Given the description of an element on the screen output the (x, y) to click on. 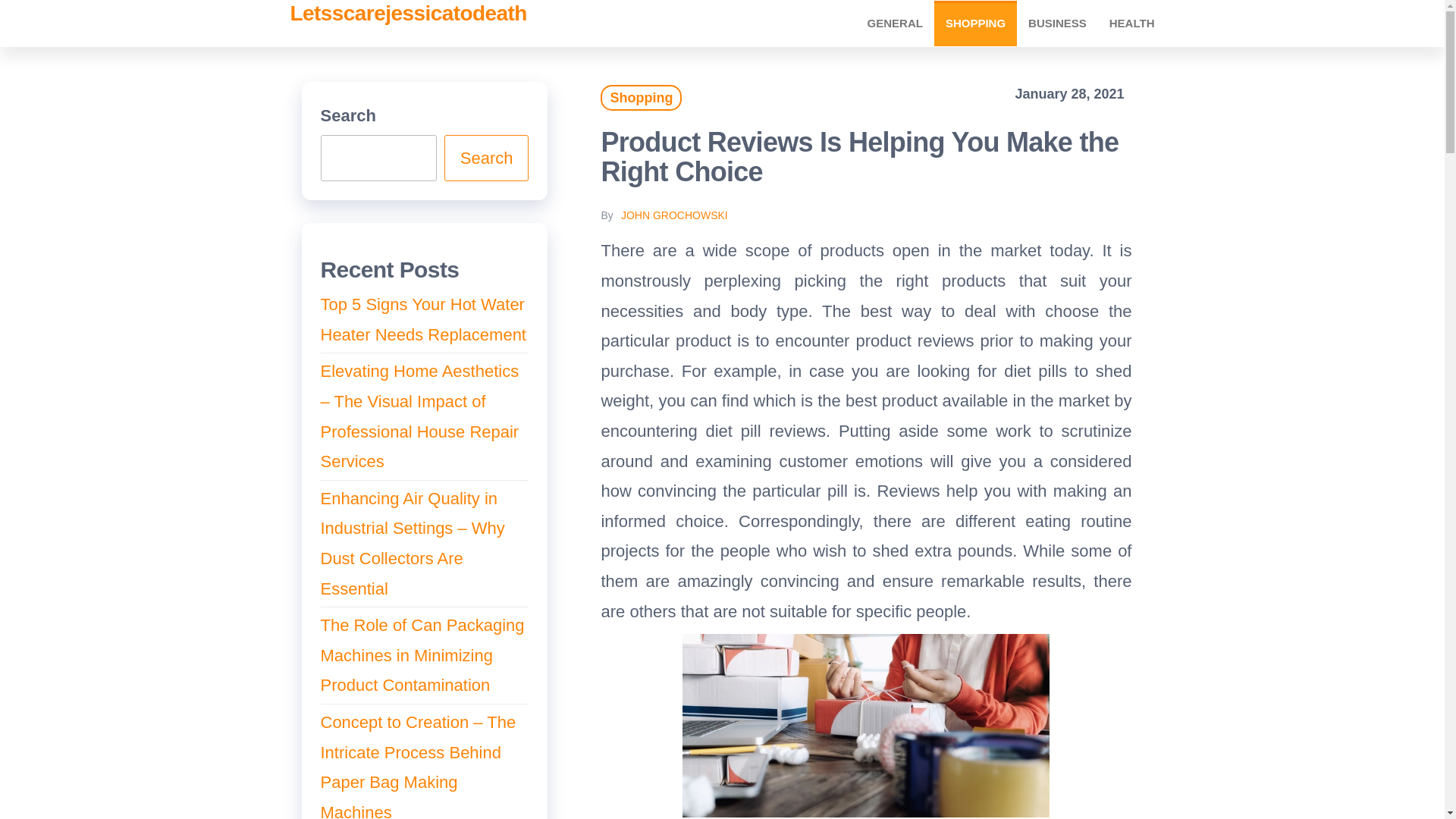
JOHN GROCHOWSKI (674, 215)
Shopping (640, 97)
HEALTH (1131, 22)
Letsscarejessicatodeath (407, 13)
Business (1056, 22)
GENERAL (895, 22)
SHOPPING (975, 22)
Search (486, 158)
BUSINESS (1056, 22)
General (895, 22)
Shopping (975, 22)
Health (1131, 22)
Top 5 Signs Your Hot Water Heater Needs Replacement (422, 318)
